Given the description of an element on the screen output the (x, y) to click on. 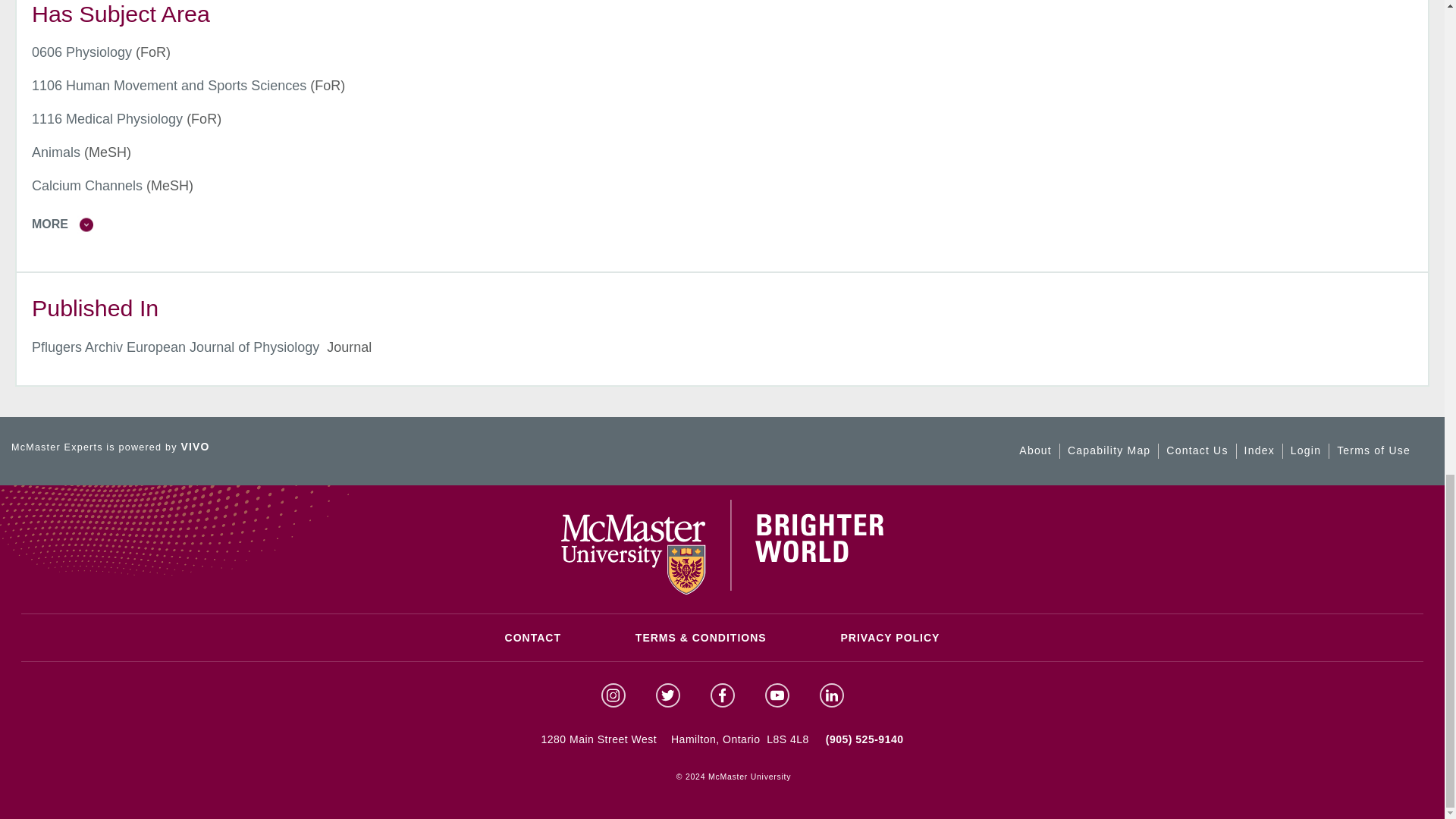
concept name (107, 118)
concept name (56, 151)
concept name (168, 85)
concept name (82, 52)
